Given the description of an element on the screen output the (x, y) to click on. 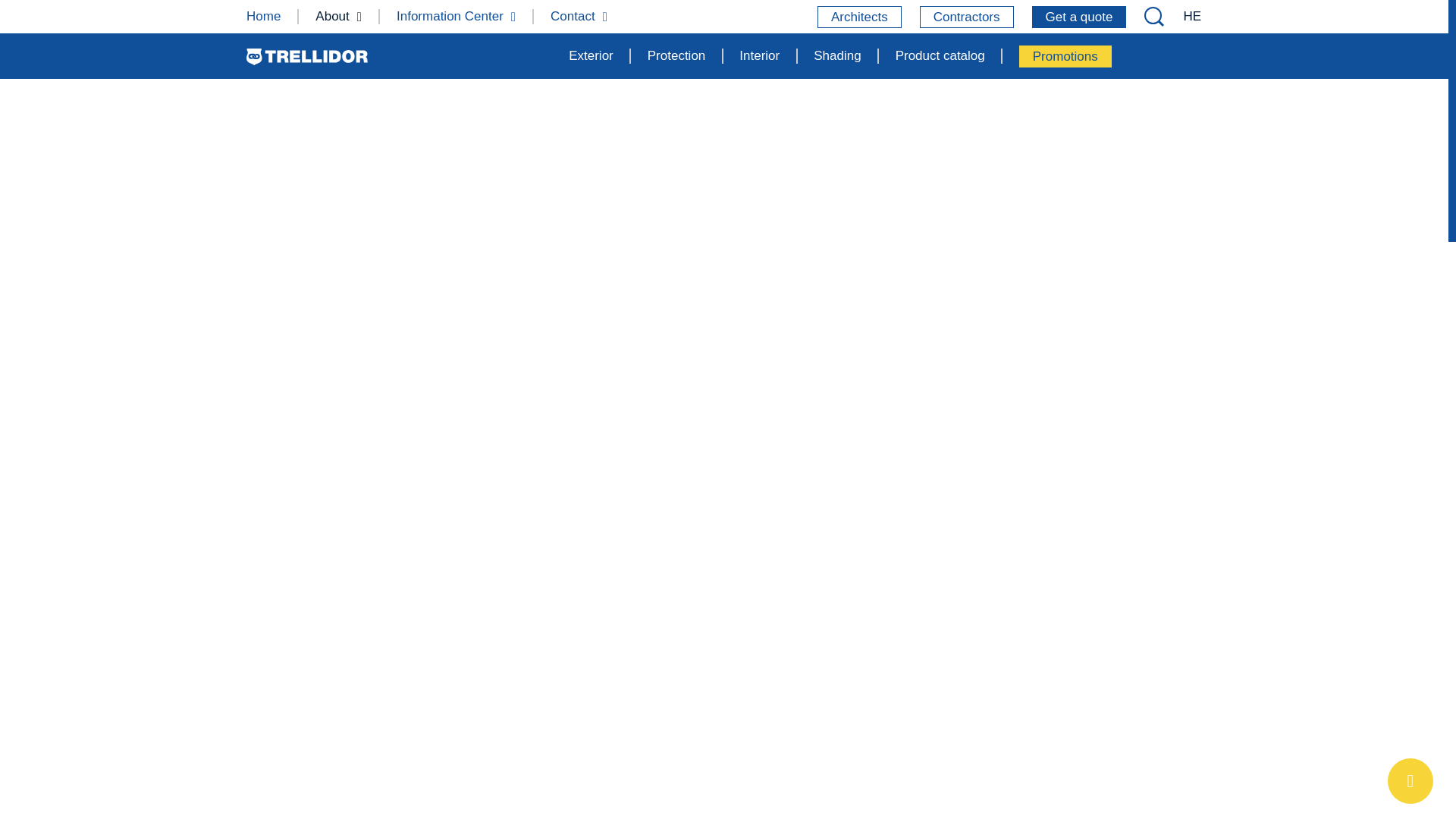
Contact (578, 15)
Architects (858, 16)
Contractors (966, 16)
Information Center (455, 15)
Home (263, 15)
Get a quote (1079, 16)
About (338, 15)
